Given the description of an element on the screen output the (x, y) to click on. 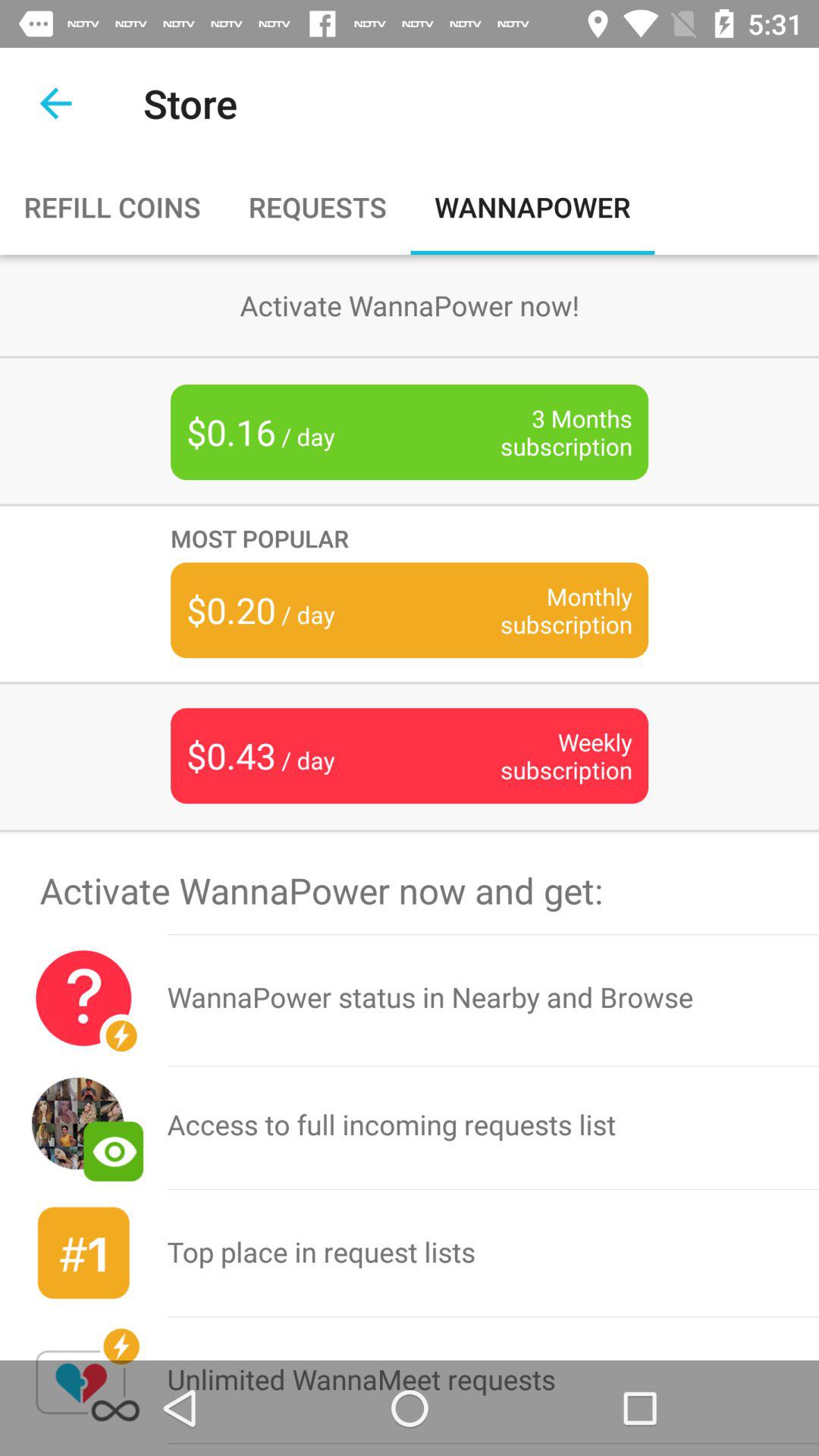
tap icon below the most popular item (543, 610)
